Given the description of an element on the screen output the (x, y) to click on. 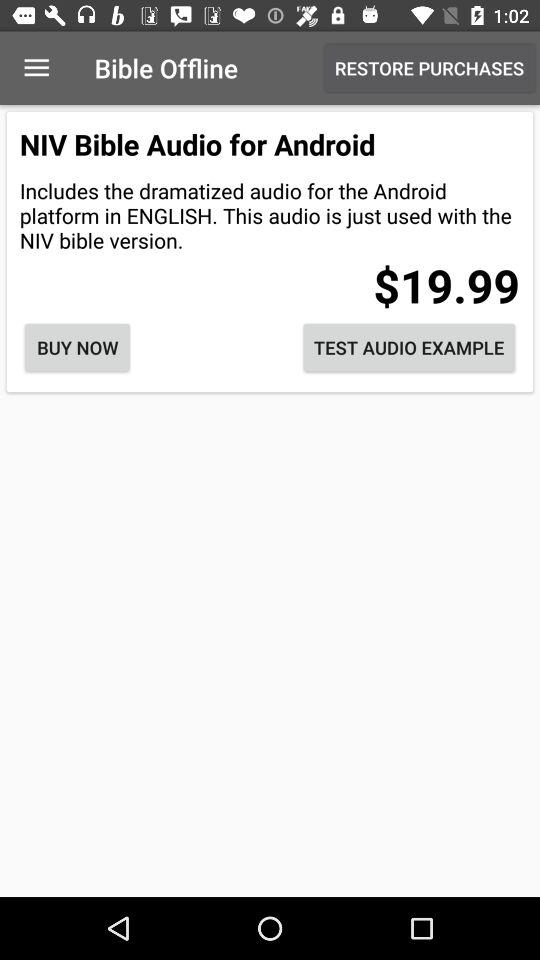
flip until the test audio example item (409, 347)
